Given the description of an element on the screen output the (x, y) to click on. 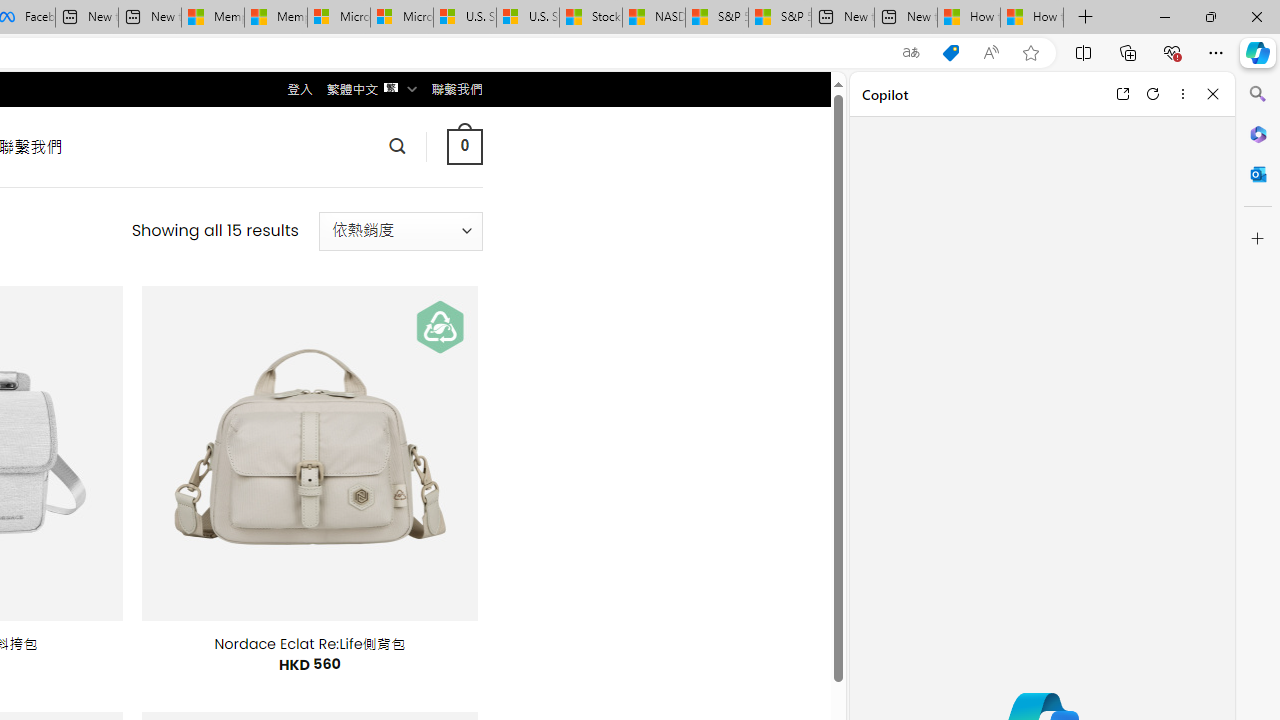
More options (1182, 93)
 0  (464, 146)
Browser essentials (1171, 52)
  0   (464, 146)
Microsoft 365 (1258, 133)
Refresh (1153, 93)
Outlook (1258, 174)
Close (1213, 93)
